Given the description of an element on the screen output the (x, y) to click on. 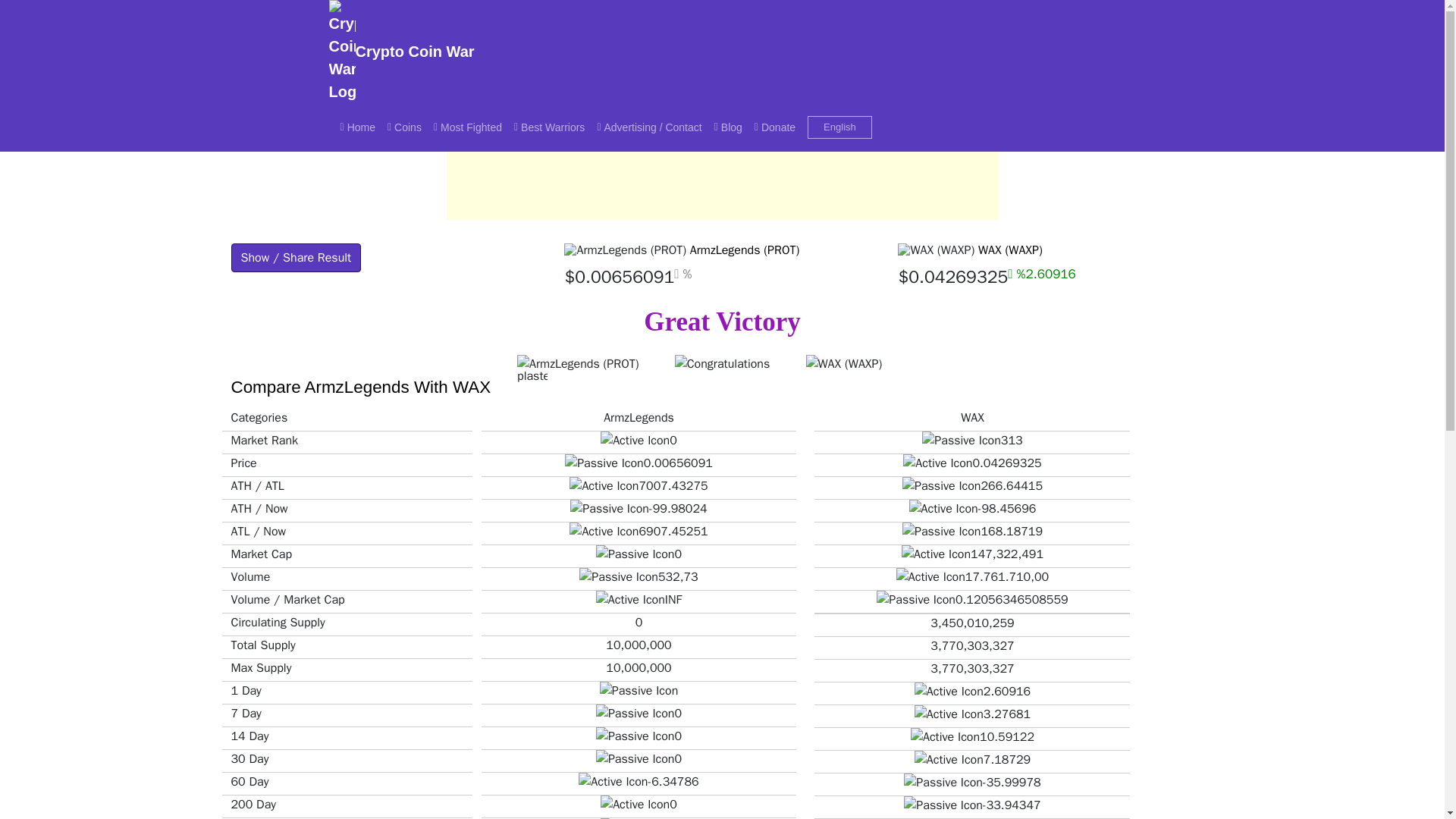
Blog (727, 127)
Compare Crypto Coin (356, 127)
Donate (775, 127)
Crypto Coin War (401, 51)
Coins (404, 127)
English (840, 127)
Donate (775, 127)
Best Warriors (549, 127)
Most Fighted (468, 127)
Blog (727, 127)
Most Fighted (468, 127)
Home (356, 127)
Coins (404, 127)
Best Warriors (549, 127)
